Given the description of an element on the screen output the (x, y) to click on. 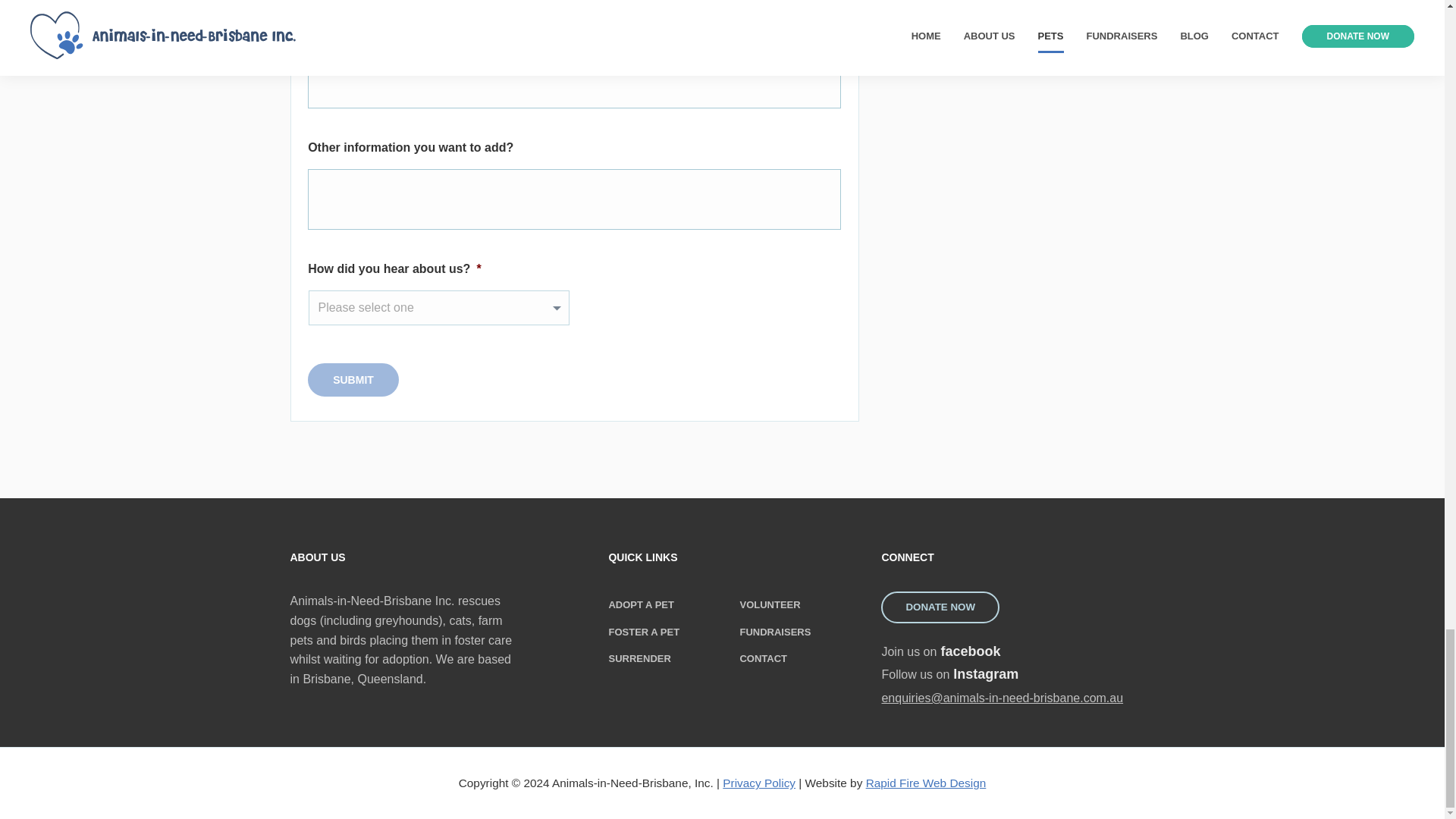
SURRENDER (638, 658)
VOLUNTEER (769, 604)
Rapid Fire Web Design (926, 782)
Submit (1017, 674)
FOSTER A PET (352, 379)
Facebook (643, 632)
DONATE NOW (1017, 651)
CONTACT (1017, 651)
Submit (939, 606)
FUNDRAISERS (763, 658)
Privacy Policy (352, 379)
ADOPT A PET (774, 632)
Instagram (758, 782)
